Given the description of an element on the screen output the (x, y) to click on. 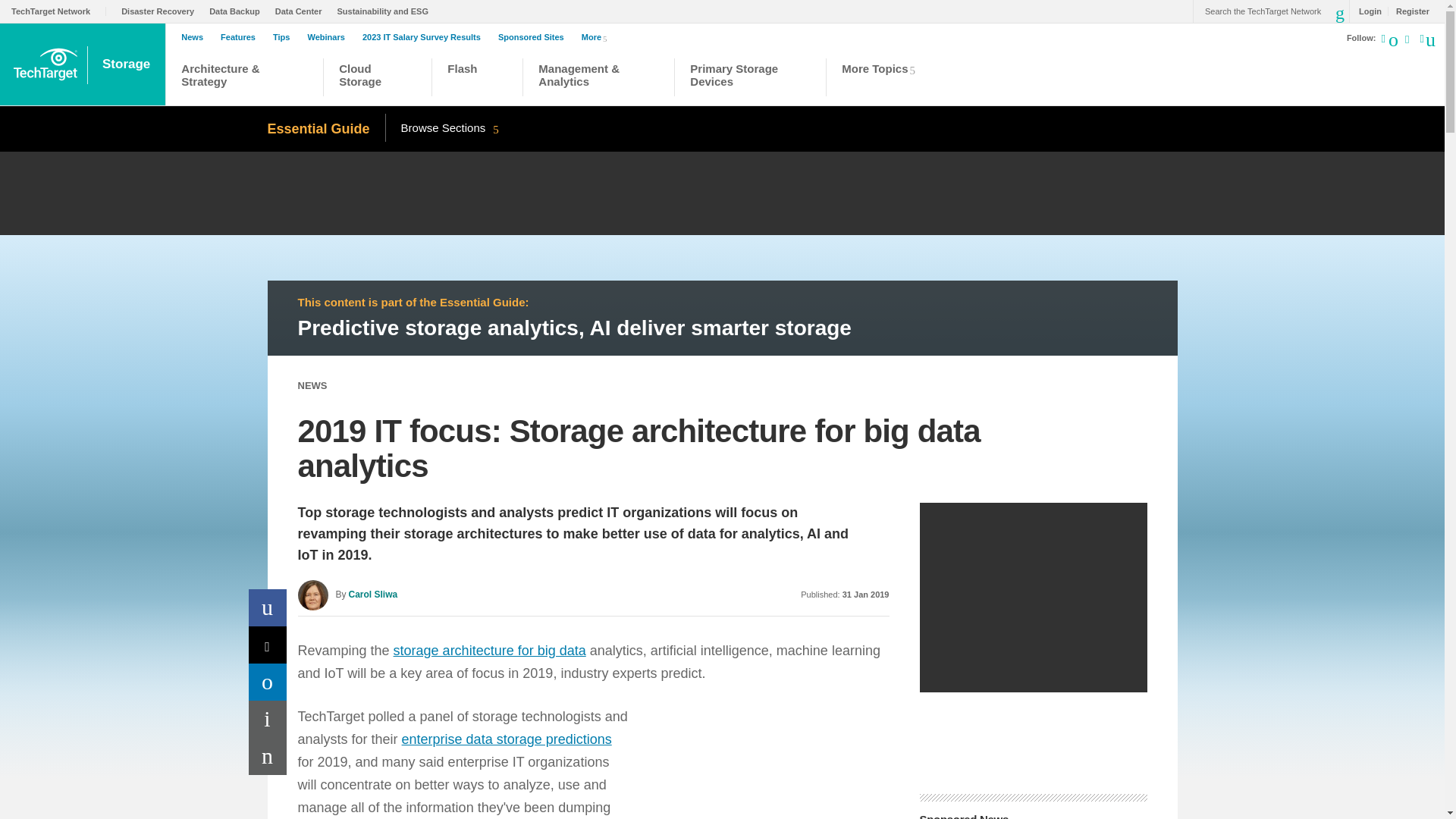
Print This Page (267, 719)
Sponsored Sites (534, 36)
Storage (127, 64)
Register (1408, 10)
Primary Storage Devices (750, 79)
Webinars (329, 36)
Features (242, 36)
Login (1366, 10)
2023 IT Salary Survey Results (424, 36)
More (596, 36)
Data Center (302, 10)
Share on LinkedIn (267, 682)
Tips (285, 36)
Disaster Recovery (161, 10)
Cloud Storage (377, 79)
